Given the description of an element on the screen output the (x, y) to click on. 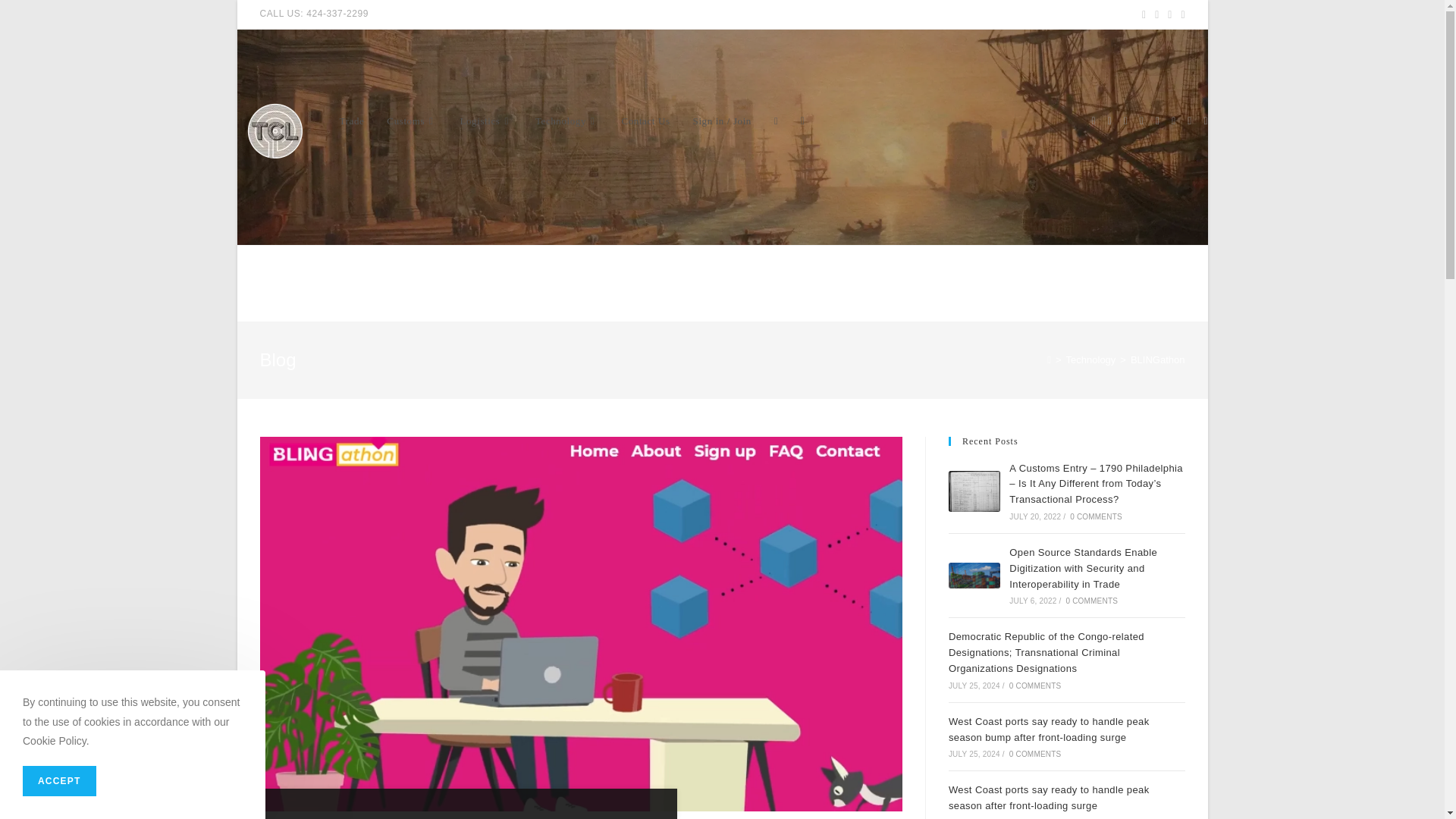
Logistics (485, 121)
Technology (567, 121)
Contact Us (645, 121)
Customs (411, 121)
